Given the description of an element on the screen output the (x, y) to click on. 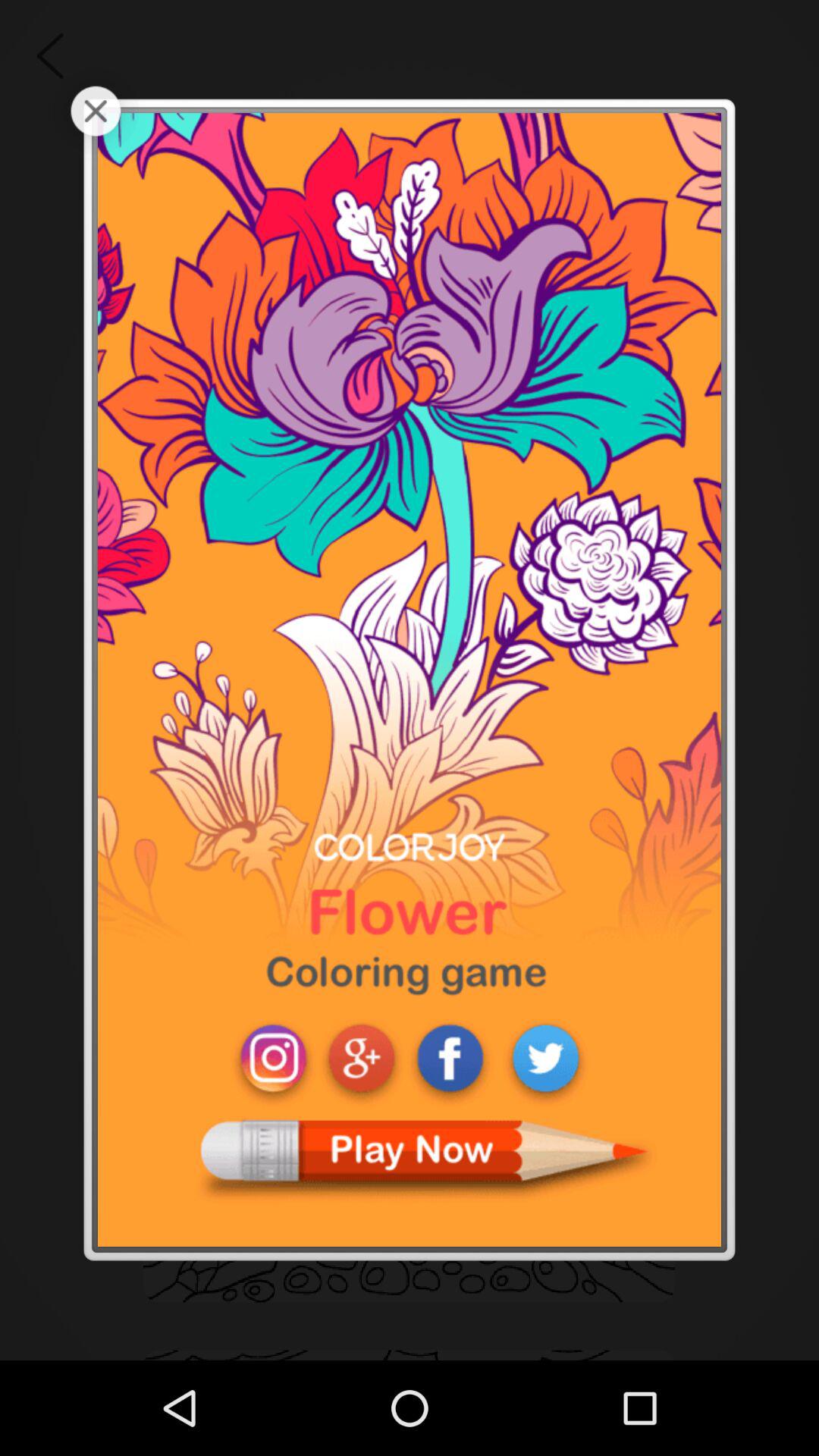
advertisement (409, 679)
